Given the description of an element on the screen output the (x, y) to click on. 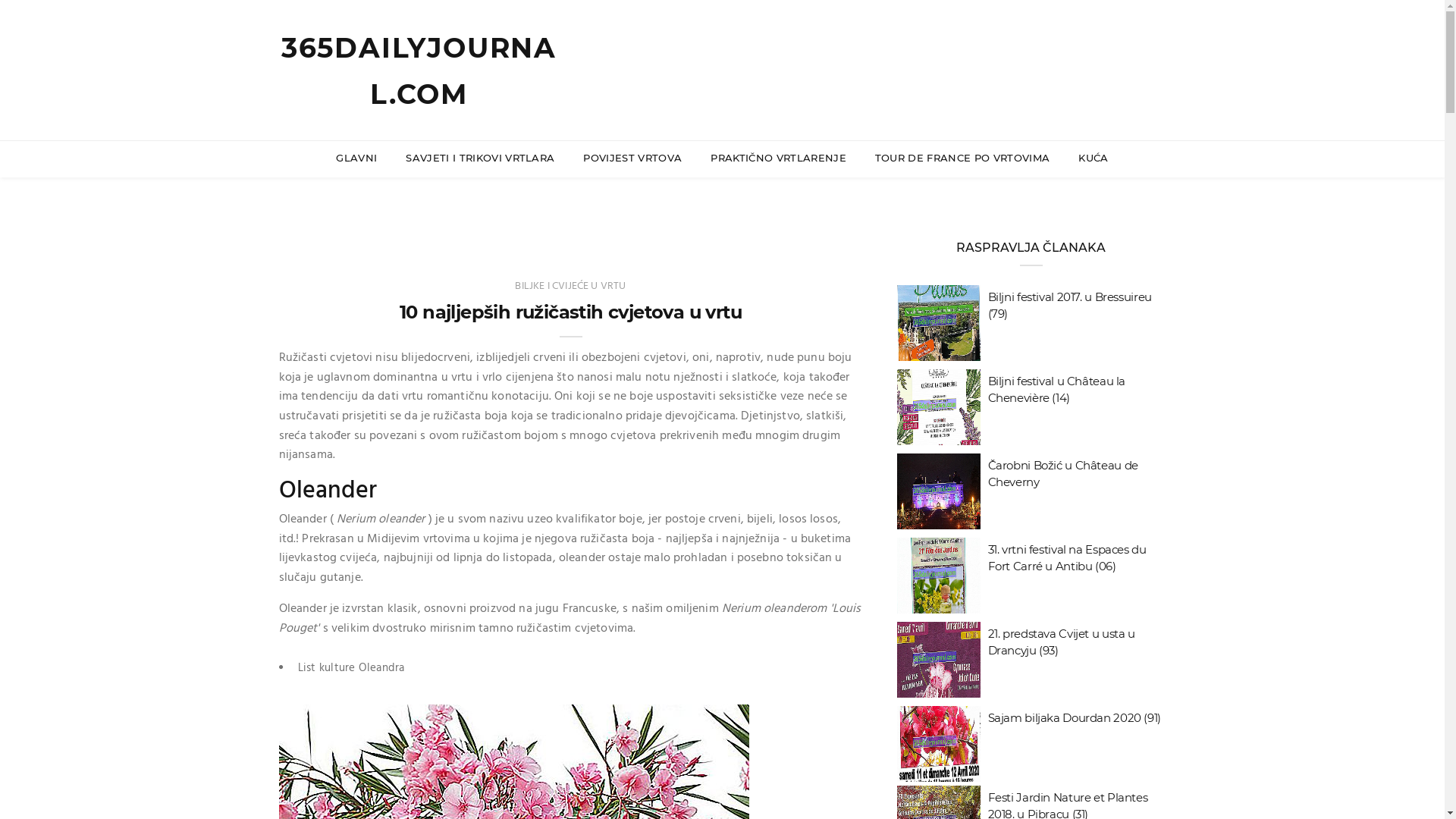
TOUR DE FRANCE PO VRTOVIMA Element type: text (962, 158)
POVIJEST VRTOVA Element type: text (632, 158)
Biljni festival 2017. u Bressuireu (79) Element type: text (1069, 304)
21. predstava Cvijet u usta u Drancyju (93) Element type: text (1060, 641)
SAVJETI I TRIKOVI VRTLARA Element type: text (479, 158)
365DAILYJOURNAL.COM Element type: text (418, 70)
GLAVNI Element type: text (355, 158)
Sajam biljaka Dourdan 2020 (91) Element type: text (1073, 717)
